Given the description of an element on the screen output the (x, y) to click on. 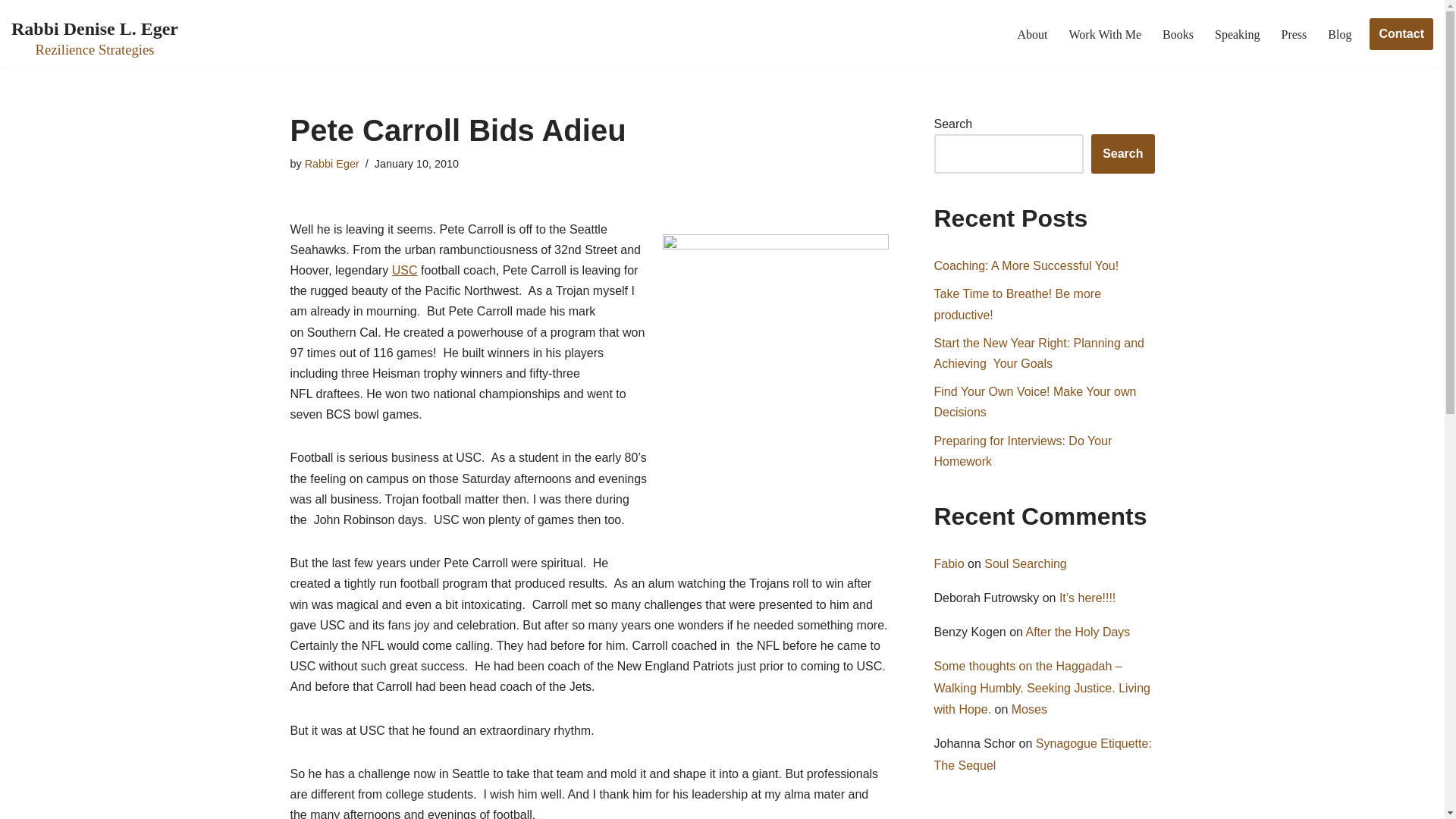
Press (1294, 34)
Blog (1339, 34)
Coaching: A More Successful You! (1026, 265)
Moses (1028, 708)
After the Holy Days (1077, 631)
Skip to content (11, 31)
Fabio (948, 563)
Take Time to Breathe! Be more productive! (1018, 304)
Start the New Year Right: Planning and Achieving  Your Goals (1039, 353)
Find Your Own Voice! Make Your own Decisions (1035, 401)
Soul Searching (1025, 563)
Preparing for Interviews: Do Your Homework (1023, 450)
Search (1122, 153)
Speaking (1237, 34)
Books (1177, 34)
